Given the description of an element on the screen output the (x, y) to click on. 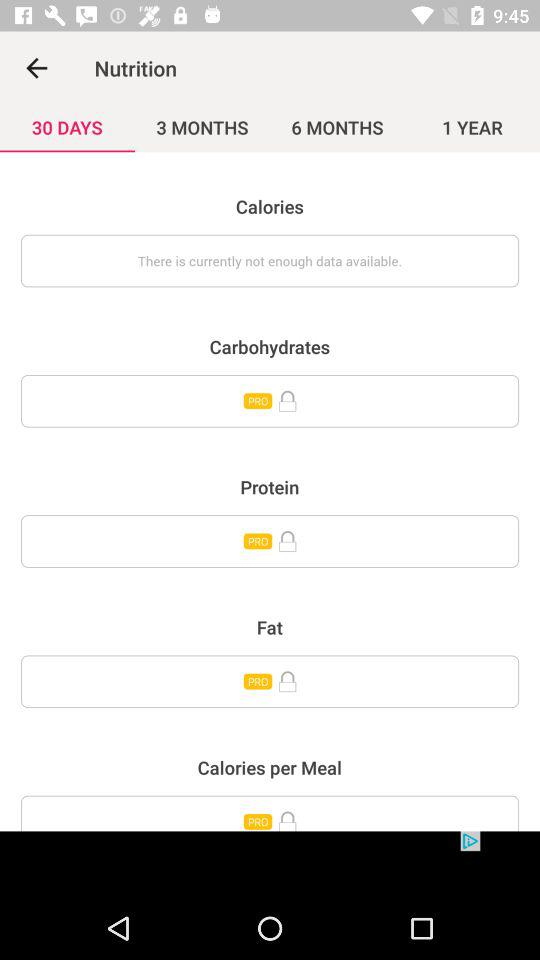
toggle unlock (269, 681)
